Given the description of an element on the screen output the (x, y) to click on. 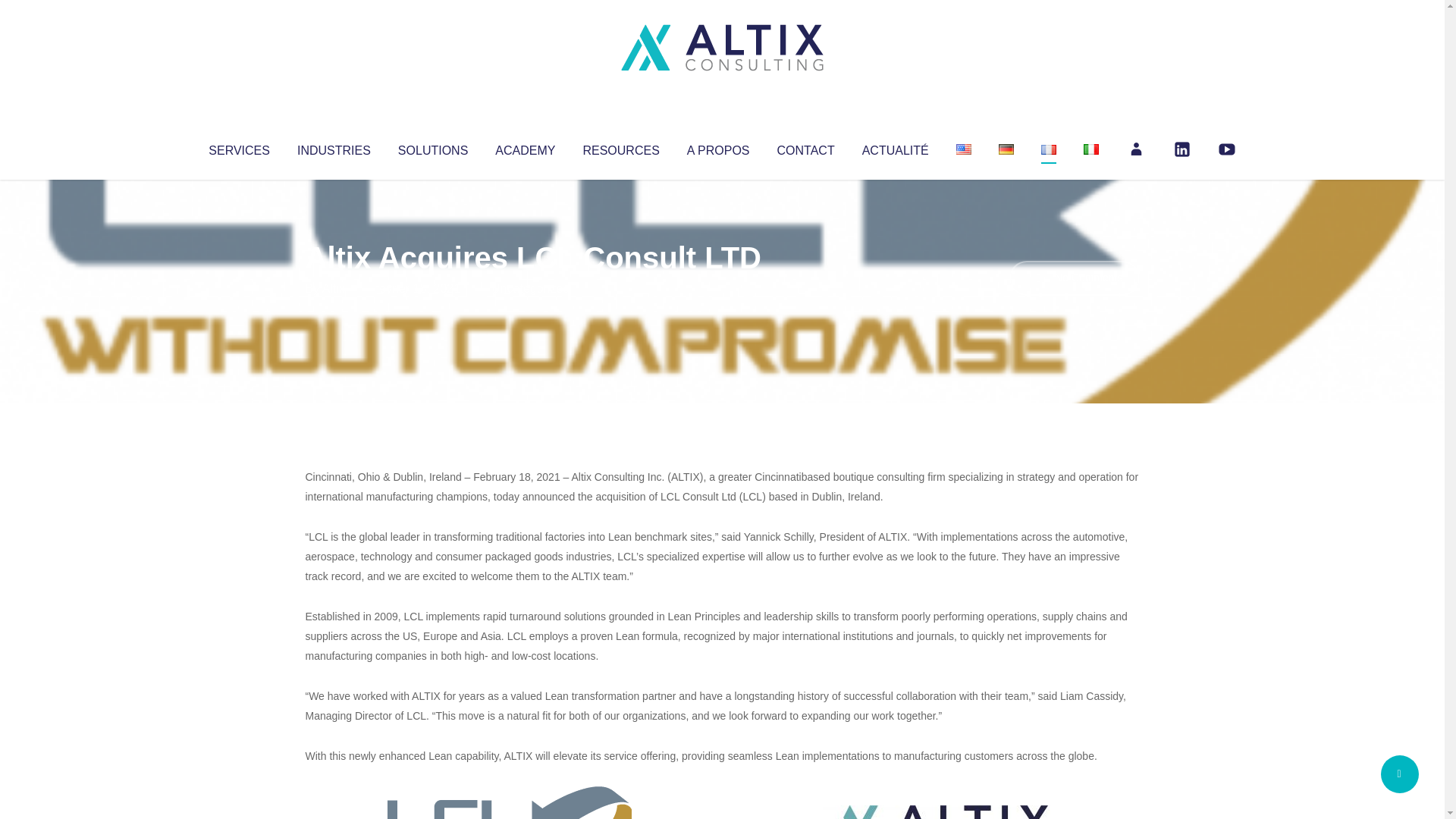
No Comments (1073, 278)
Articles par Altix (333, 287)
INDUSTRIES (334, 146)
A PROPOS (718, 146)
Uncategorized (530, 287)
SOLUTIONS (432, 146)
ACADEMY (524, 146)
RESOURCES (620, 146)
Altix (333, 287)
SERVICES (238, 146)
